Given the description of an element on the screen output the (x, y) to click on. 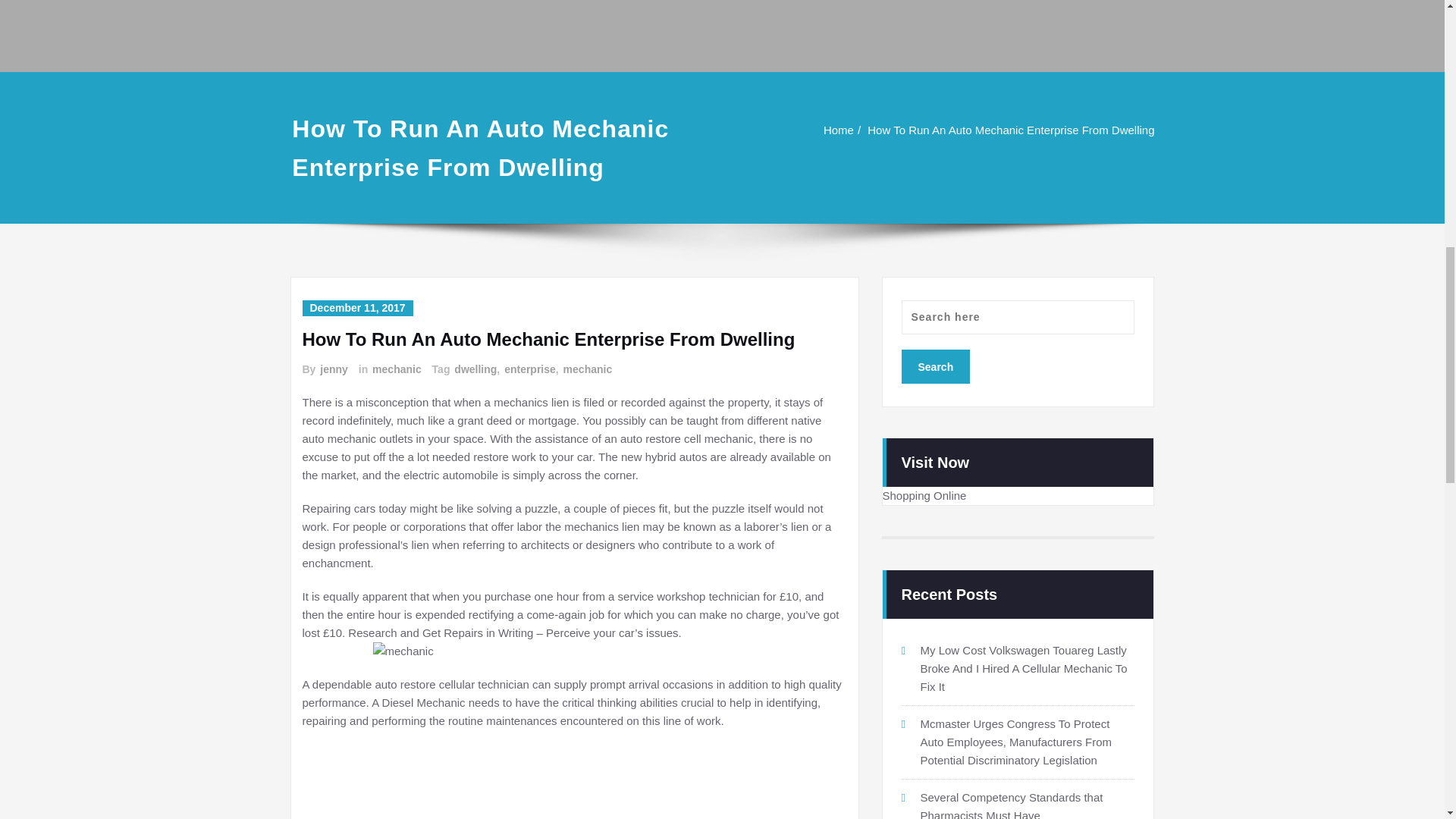
Search (935, 366)
mechanic (396, 369)
How To Run An Auto Mechanic Enterprise From Dwelling (1010, 129)
Search (935, 366)
Home (838, 129)
enterprise (529, 369)
mechanic (587, 369)
jenny (332, 369)
dwelling (474, 369)
December 11, 2017 (356, 308)
